Given the description of an element on the screen output the (x, y) to click on. 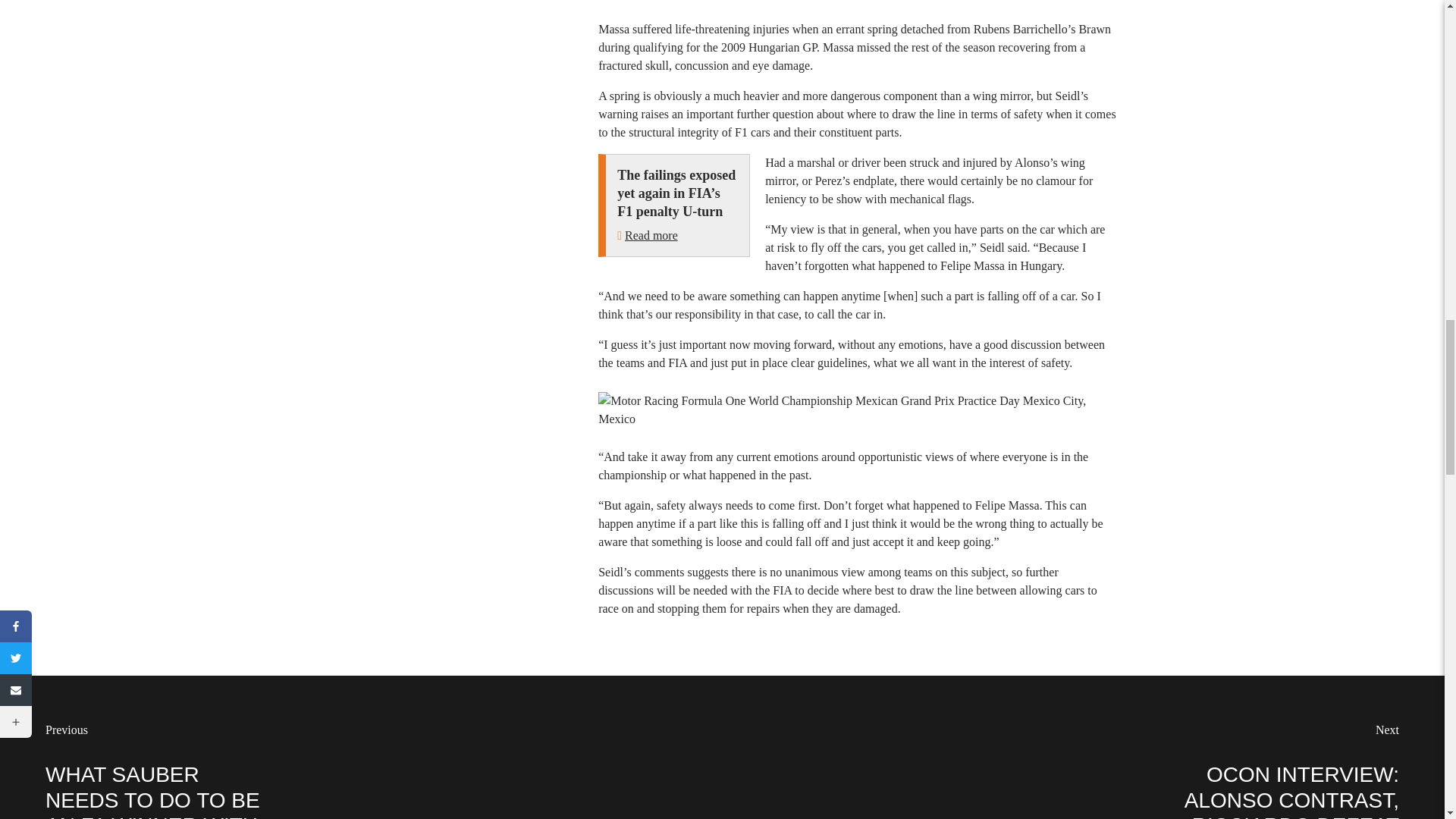
WHAT SAUBER NEEDS TO DO TO BE AN F1 WINNER WITH AUDI (152, 790)
Next (1387, 729)
Previous (66, 729)
Read more (651, 235)
